Given the description of an element on the screen output the (x, y) to click on. 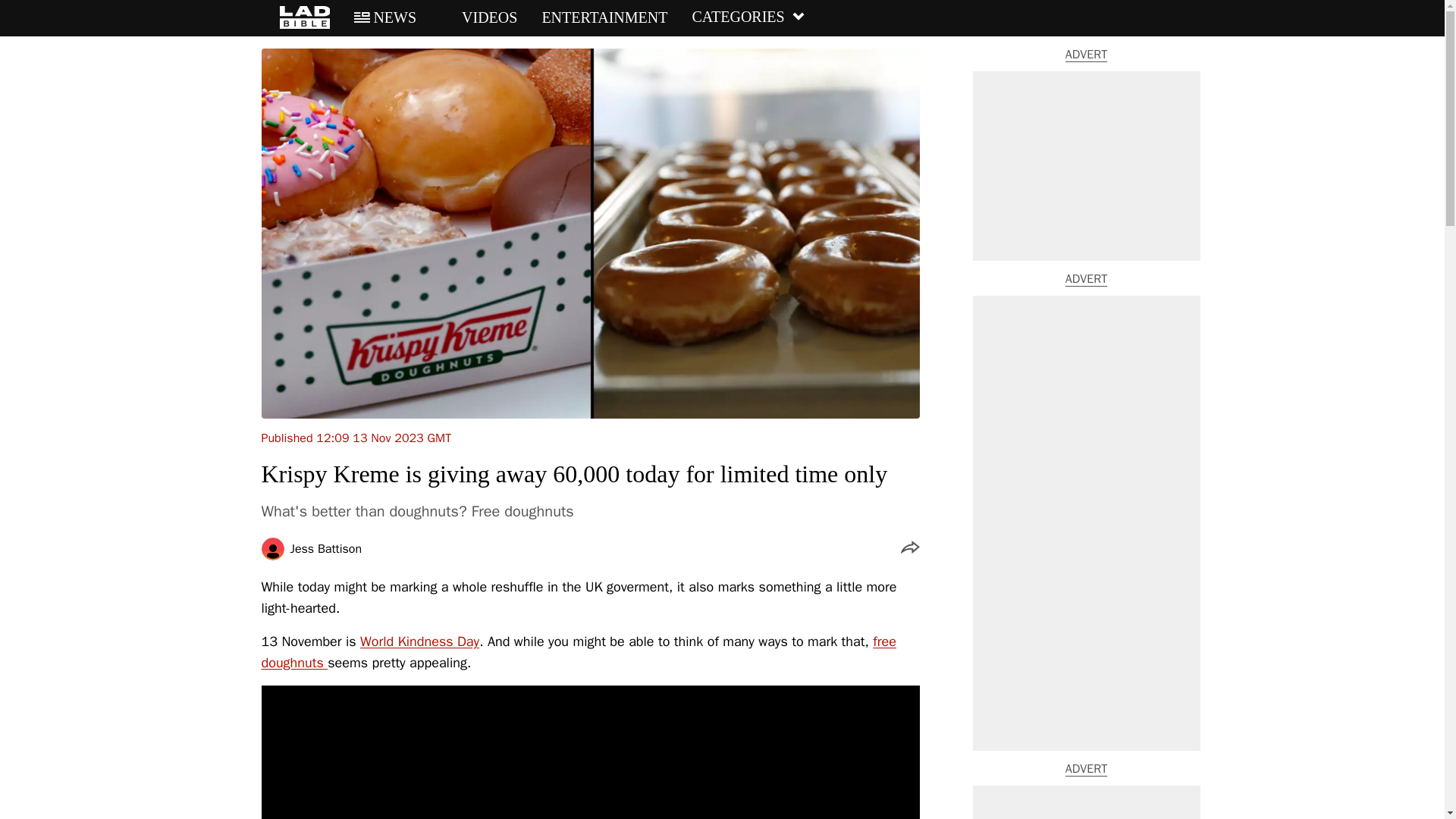
CATEGORIES (748, 17)
VIDEOS (478, 17)
ENTERTAINMENT (603, 17)
NEWS (384, 17)
